Given the description of an element on the screen output the (x, y) to click on. 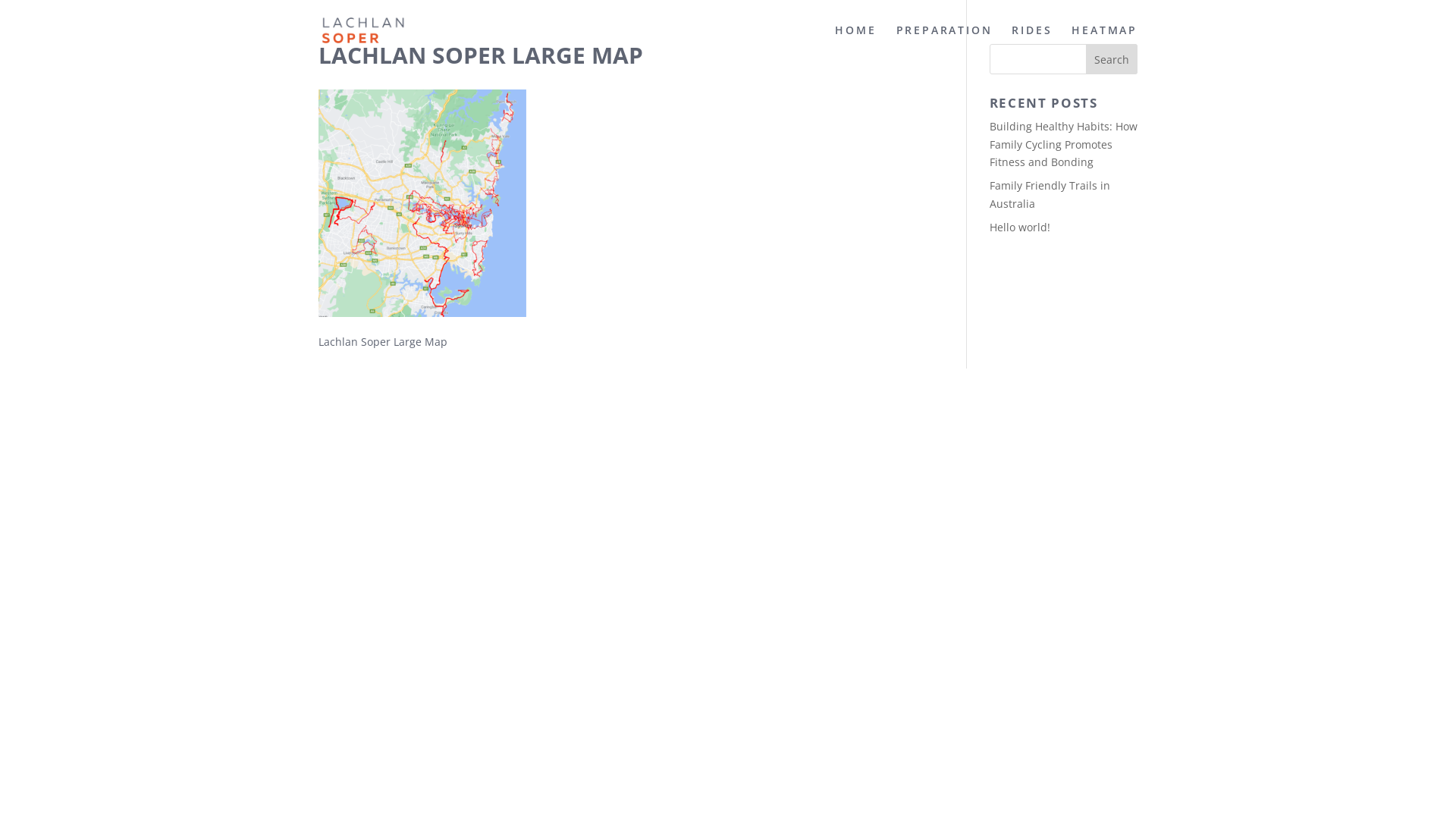
Search Element type: text (1111, 58)
HOME Element type: text (854, 42)
Family Friendly Trails in Australia Element type: text (1049, 194)
HEATMAP Element type: text (1104, 42)
RIDES Element type: text (1031, 42)
PREPARATION Element type: text (944, 42)
Hello world! Element type: text (1019, 226)
